Given the description of an element on the screen output the (x, y) to click on. 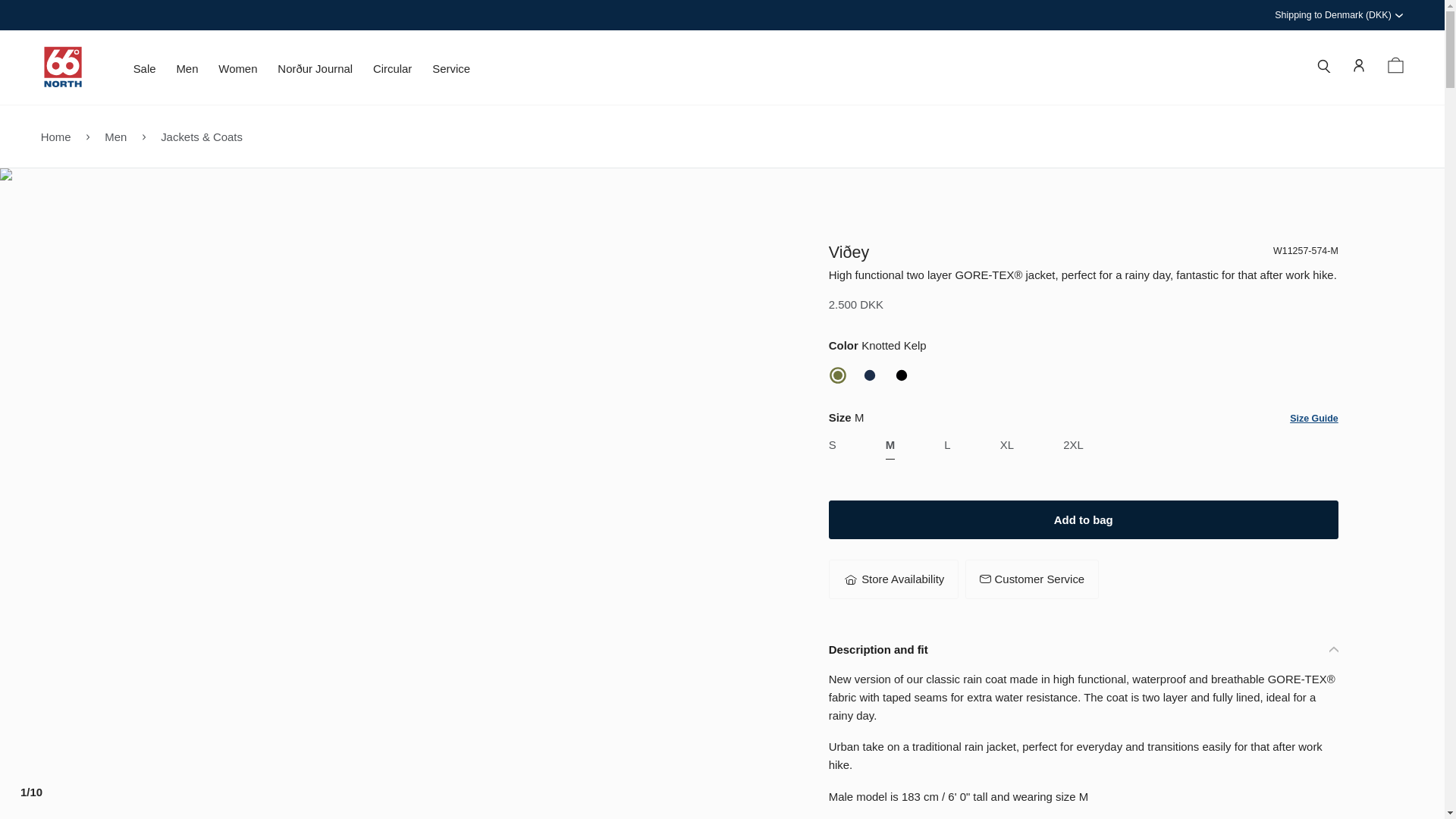
Men (187, 72)
Women (237, 72)
Service (451, 72)
Description and fit (1083, 649)
Customer Service (1032, 578)
Home (55, 135)
Men (115, 135)
Add to bag (1083, 518)
Size Guide (1314, 418)
Store Availability (893, 578)
